Given the description of an element on the screen output the (x, y) to click on. 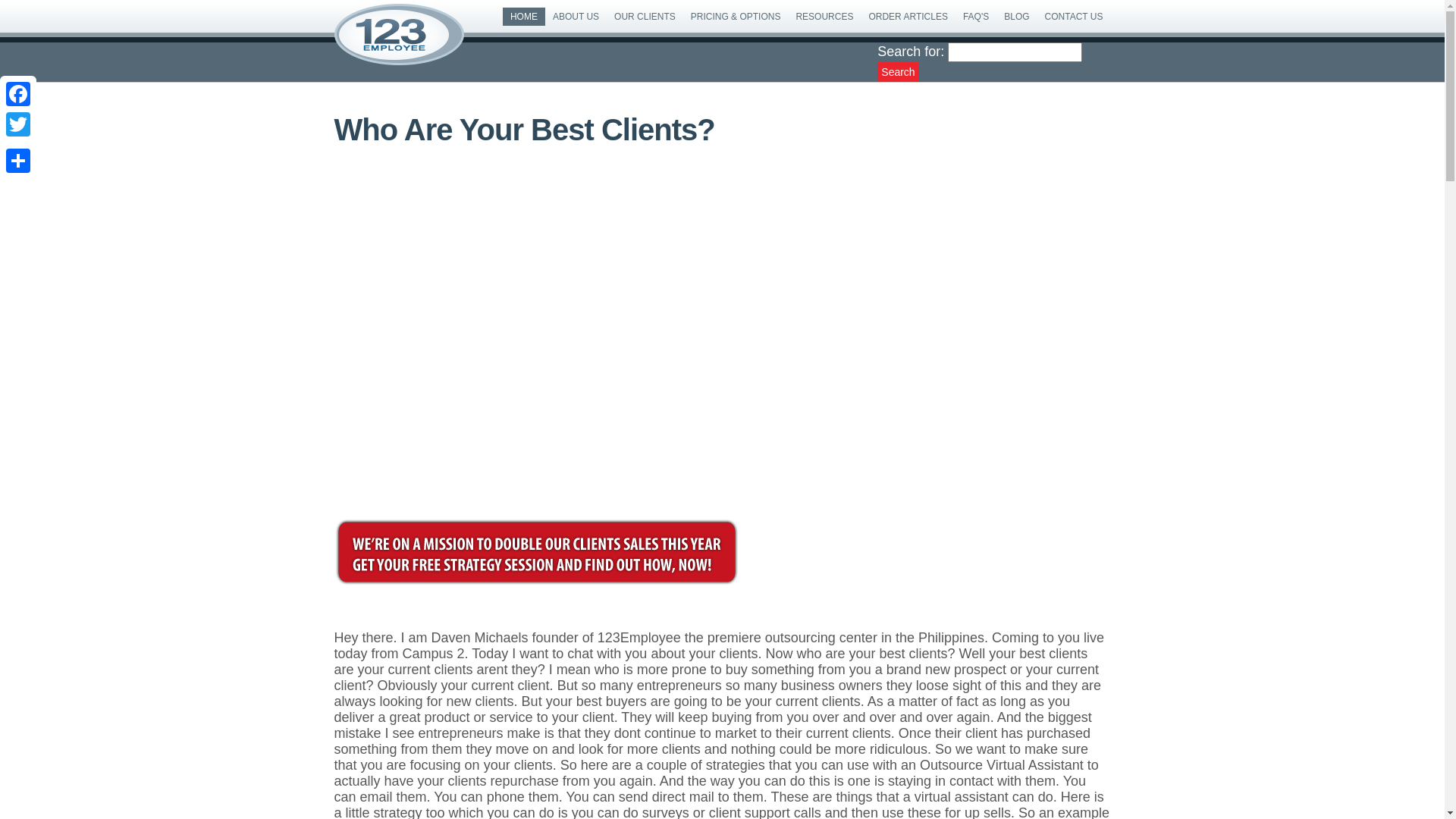
HOME Element type: text (523, 16)
ABOUT US Element type: text (575, 16)
Google+ Element type: hover (18, 142)
CONTACT US Element type: text (1073, 16)
Facebook Element type: text (18, 93)
ORDER ARTICLES Element type: text (907, 16)
FAQ'S Element type: text (975, 16)
BLOG Element type: text (1016, 16)
RESOURCES Element type: text (823, 16)
OUR CLIENTS Element type: text (644, 16)
Search Element type: text (897, 71)
PRICING & OPTIONS Element type: text (735, 16)
Twitter Element type: text (18, 124)
Share Element type: text (18, 160)
